Given the description of an element on the screen output the (x, y) to click on. 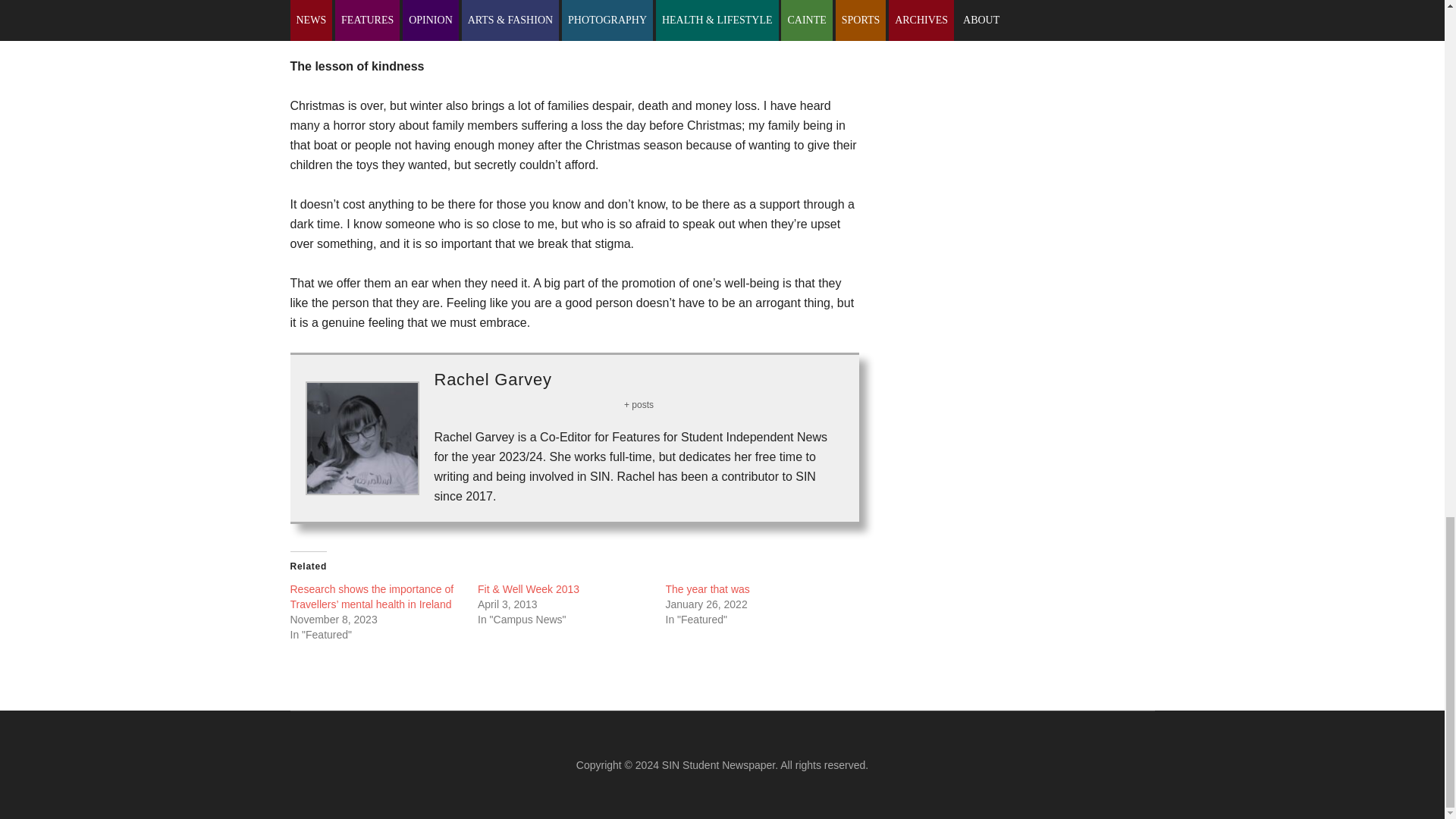
The year that was (707, 589)
